Given the description of an element on the screen output the (x, y) to click on. 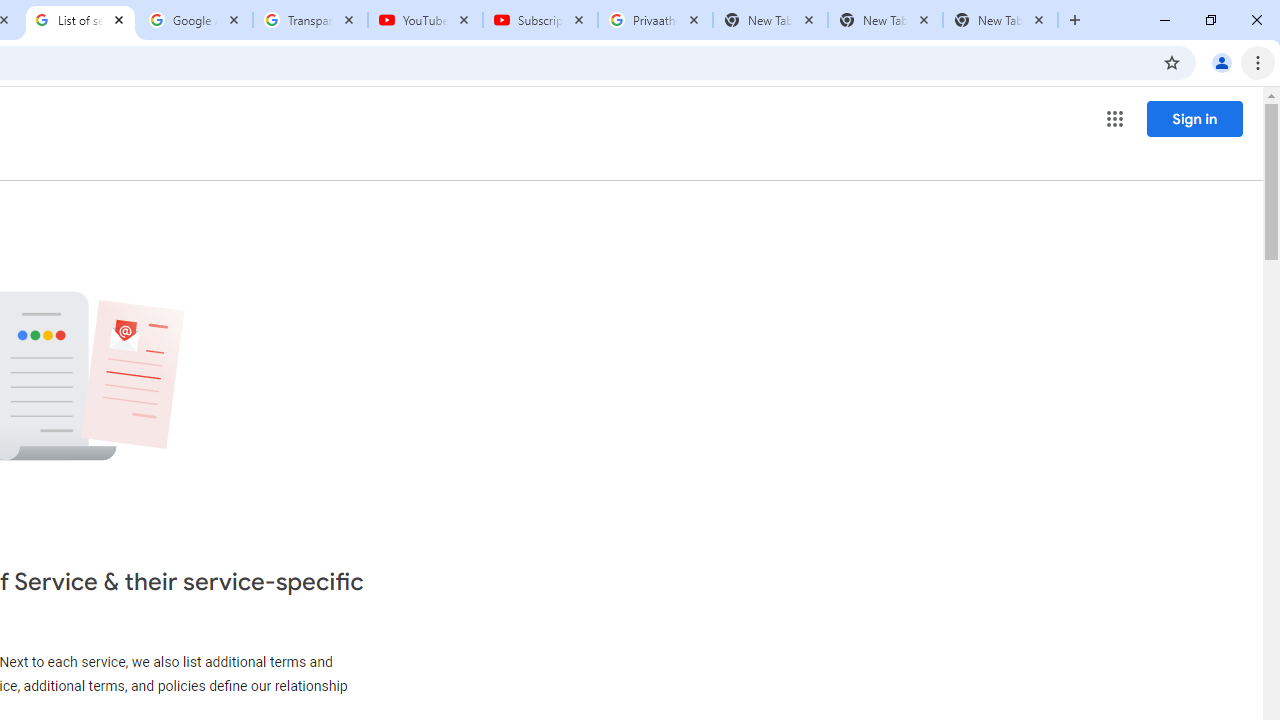
Google Account (195, 20)
YouTube (424, 20)
Subscriptions - YouTube (539, 20)
